Given the description of an element on the screen output the (x, y) to click on. 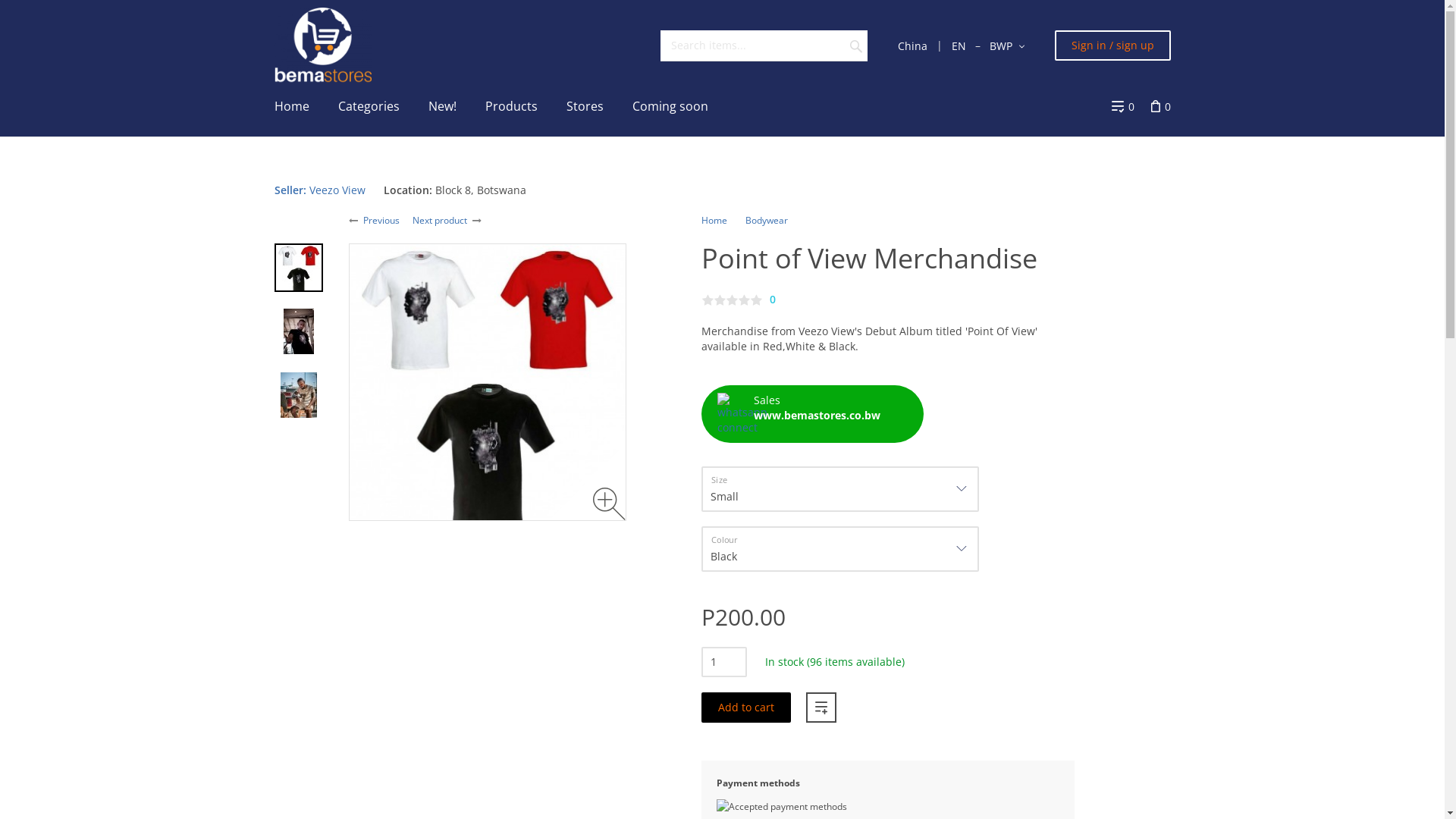
Previous Element type: text (381, 219)
Products Element type: text (510, 103)
0 Element type: text (1122, 104)
1 Element type: text (723, 661)
Coming soon Element type: text (669, 103)
Seller: Veezo View Element type: text (319, 189)
Quantity Element type: hover (723, 661)
Bodywear Element type: text (765, 219)
Home Element type: text (713, 219)
Add to cart Element type: text (745, 706)
China EN BWP Element type: text (960, 44)
Home Element type: text (290, 103)
Next product Element type: text (439, 219)
Sign in / sign up Element type: text (1112, 45)
Stores Element type: text (584, 103)
New! Element type: text (442, 103)
Home Element type: hover (322, 45)
Categories Element type: text (367, 103)
Add to compare Element type: hover (820, 706)
